Given the description of an element on the screen output the (x, y) to click on. 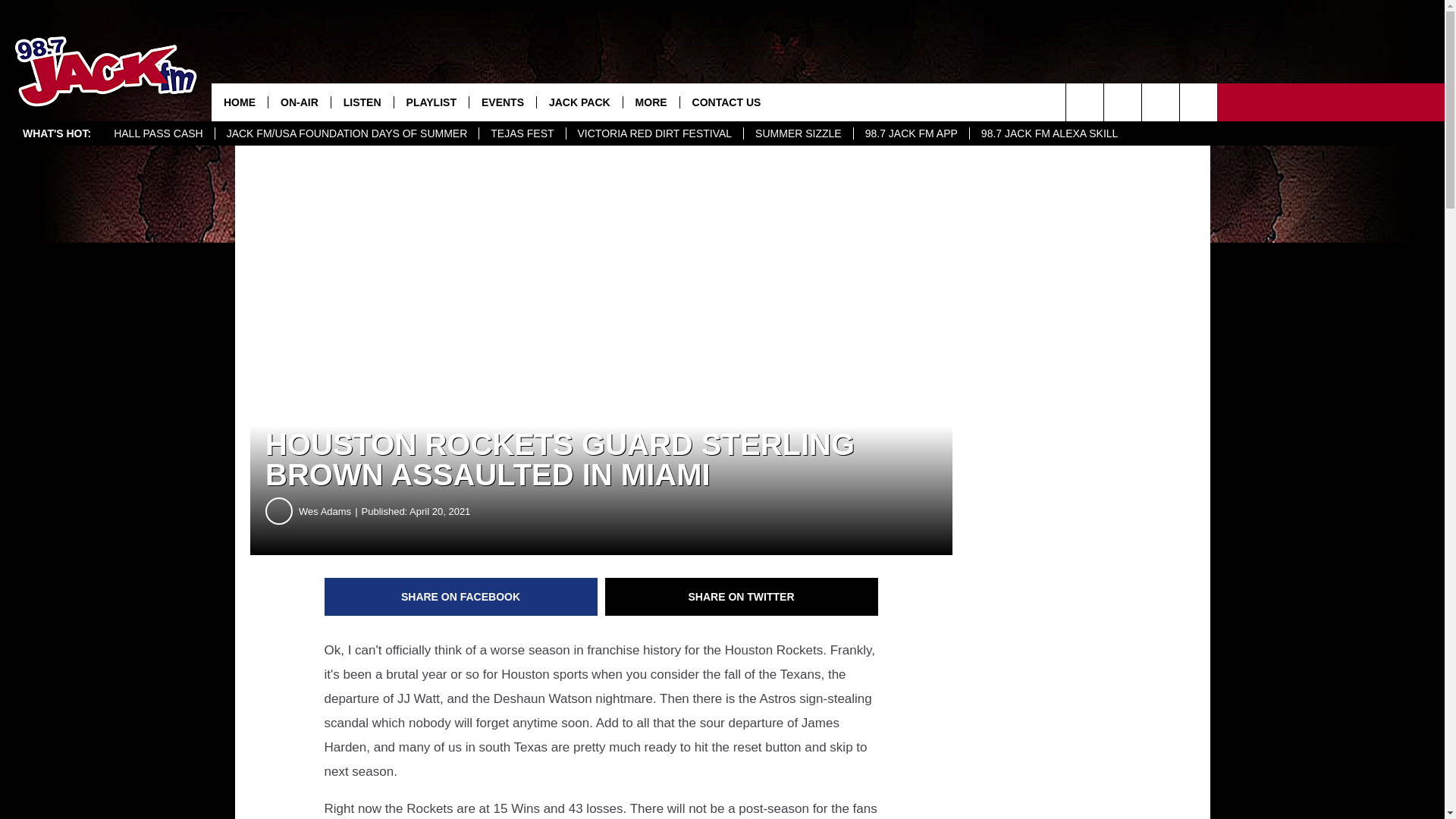
CONTACT US (726, 102)
EVENTS (501, 102)
HALL PASS CASH (157, 133)
ON-AIR (298, 102)
LISTEN (361, 102)
98.7 JACK FM ALEXA SKILL (1049, 133)
Share on Facebook (460, 596)
SUMMER SIZZLE (797, 133)
PLAYLIST (430, 102)
VICTORIA RED DIRT FESTIVAL (655, 133)
